Given the description of an element on the screen output the (x, y) to click on. 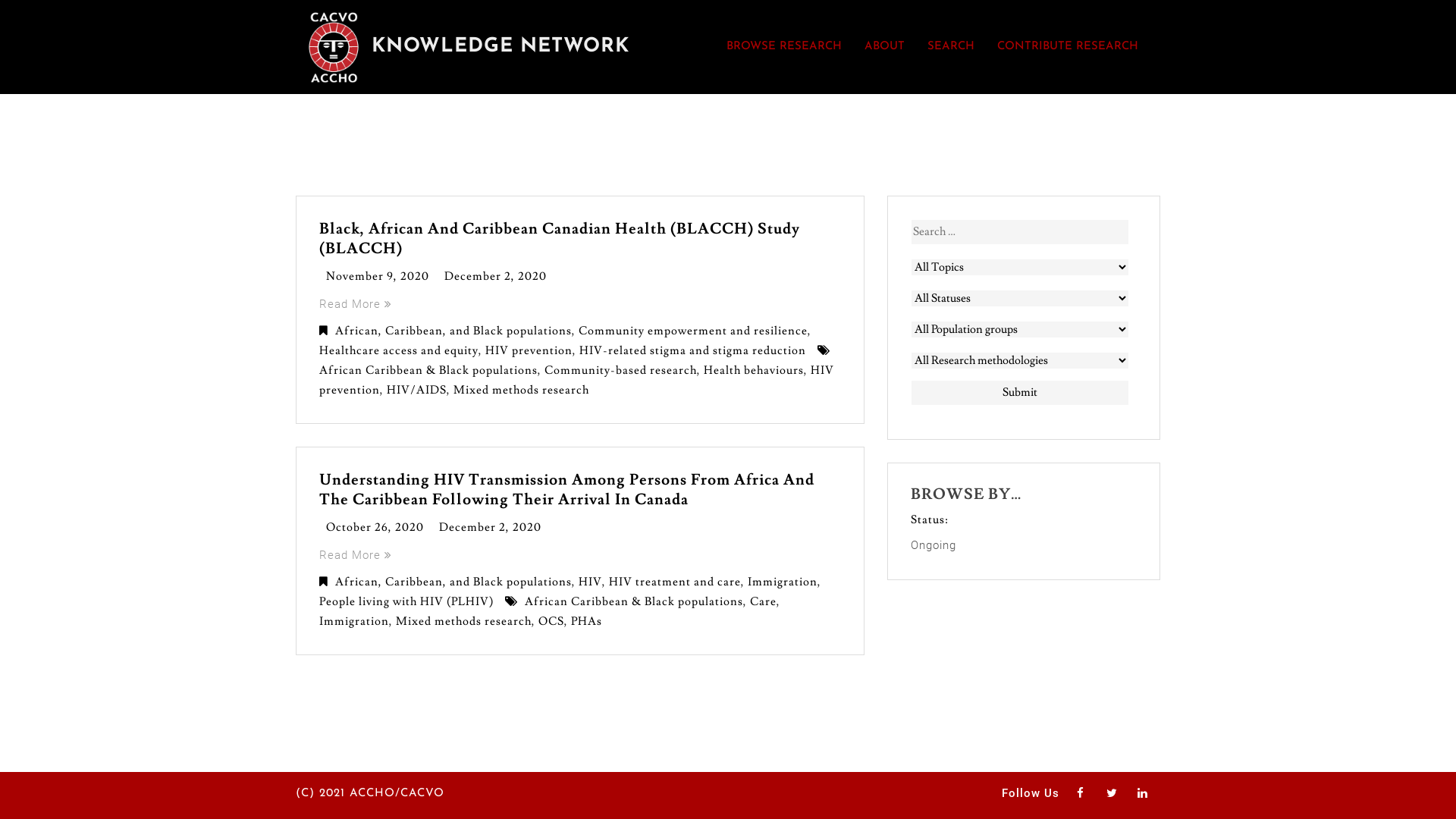
Community empowerment and resilience Element type: text (692, 330)
SEARCH Element type: text (950, 46)
Care Element type: text (762, 601)
HIV/AIDS Element type: text (416, 389)
HIV prevention Element type: text (528, 350)
October 26, 2020December 2, 2020 Element type: text (433, 527)
Health behaviours Element type: text (753, 370)
BROWSE RESEARCH Element type: text (784, 46)
African Caribbean & Black populations Element type: text (428, 370)
Immigration Element type: text (354, 621)
Read More Element type: text (355, 303)
Read More Element type: text (355, 554)
Mixed methods research Element type: text (463, 621)
Community-based research Element type: text (620, 370)
November 9, 2020December 2, 2020 Element type: text (436, 276)
HIV-related stigma and stigma reduction Element type: text (692, 350)
Healthcare access and equity Element type: text (398, 350)
Submit Element type: text (1019, 392)
People living with HIV (PLHIV) Element type: text (406, 601)
ABOUT Element type: text (884, 46)
Mixed methods research Element type: text (521, 389)
African Caribbean & Black populations Element type: text (633, 601)
Ongoing Element type: text (933, 545)
(C) 2021 ACCHO/CACVO Element type: text (369, 793)
African, Caribbean, and Black populations Element type: text (453, 581)
African, Caribbean, and Black populations Element type: text (453, 330)
OCS Element type: text (551, 621)
PHAs Element type: text (586, 621)
HIV treatment and care Element type: text (674, 581)
HIV prevention Element type: text (576, 380)
HIV Element type: text (590, 581)
Immigration Element type: text (782, 581)
CONTRIBUTE RESEARCH Element type: text (1067, 46)
